Given the description of an element on the screen output the (x, y) to click on. 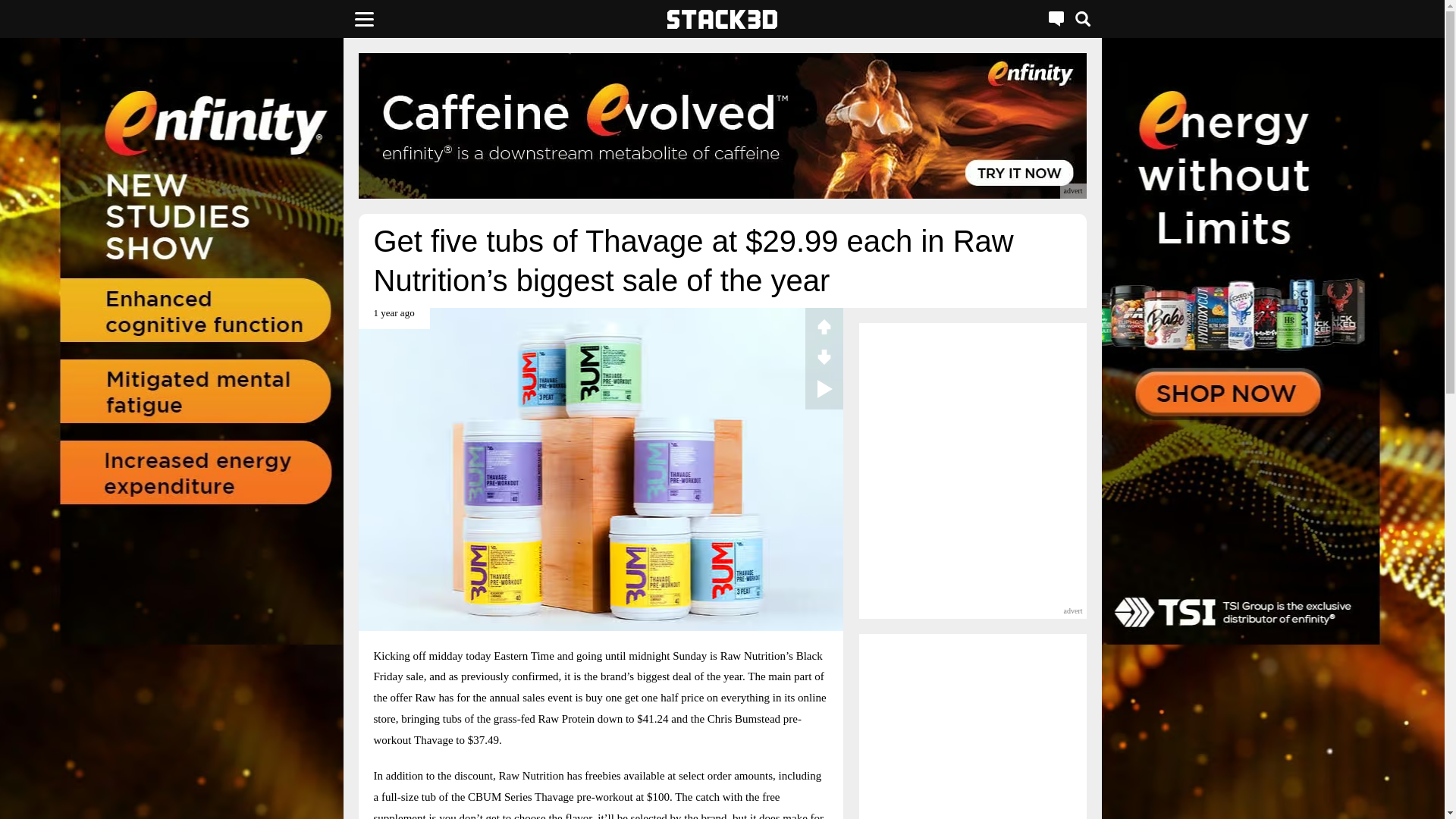
November 24th 2022 (393, 318)
